Given the description of an element on the screen output the (x, y) to click on. 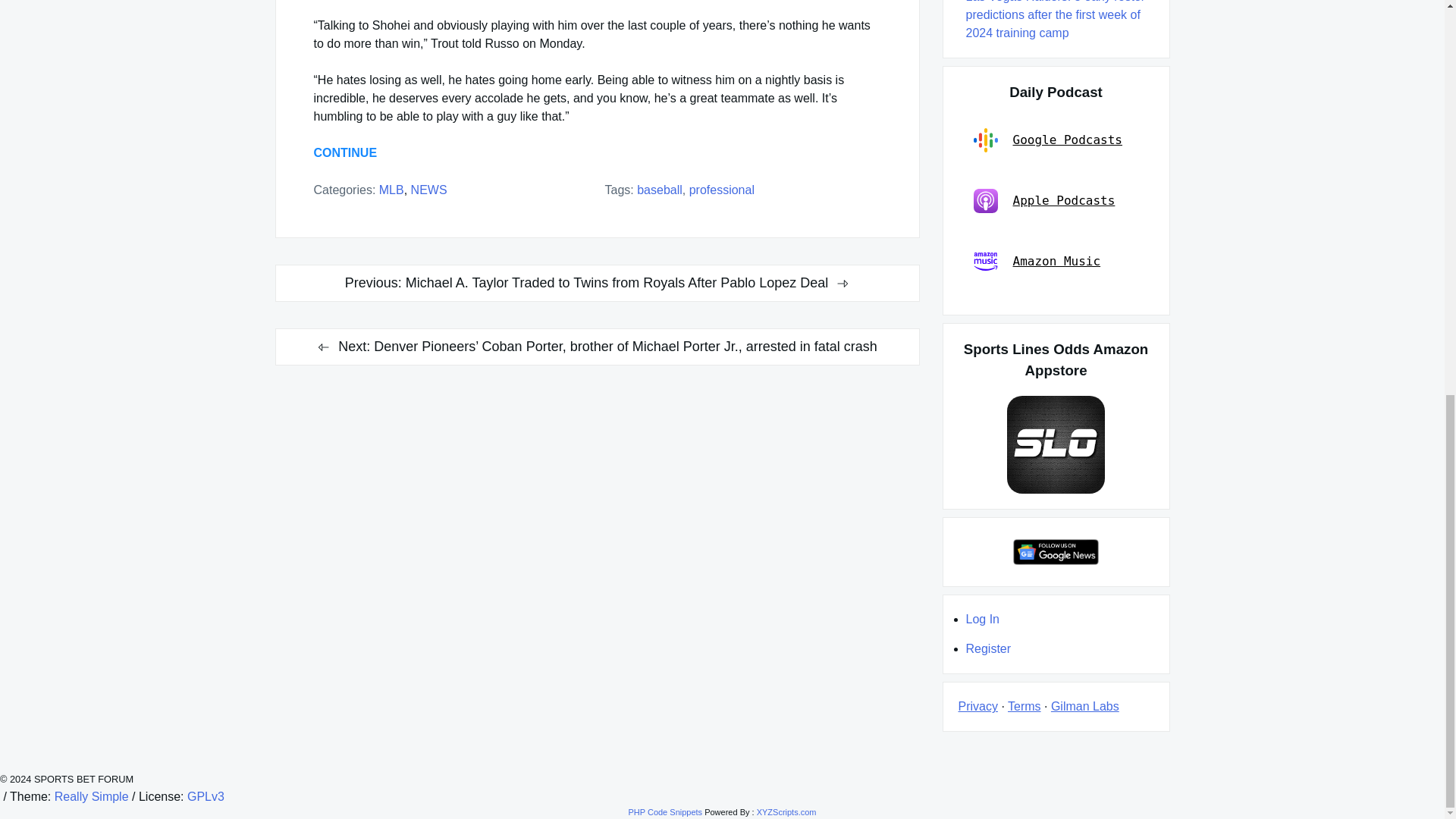
NEWS (428, 189)
MLB (391, 189)
professional (721, 189)
CONTINUE (345, 152)
Insert PHP Snippet Wordpress Plugin (664, 811)
baseball (659, 189)
